Given the description of an element on the screen output the (x, y) to click on. 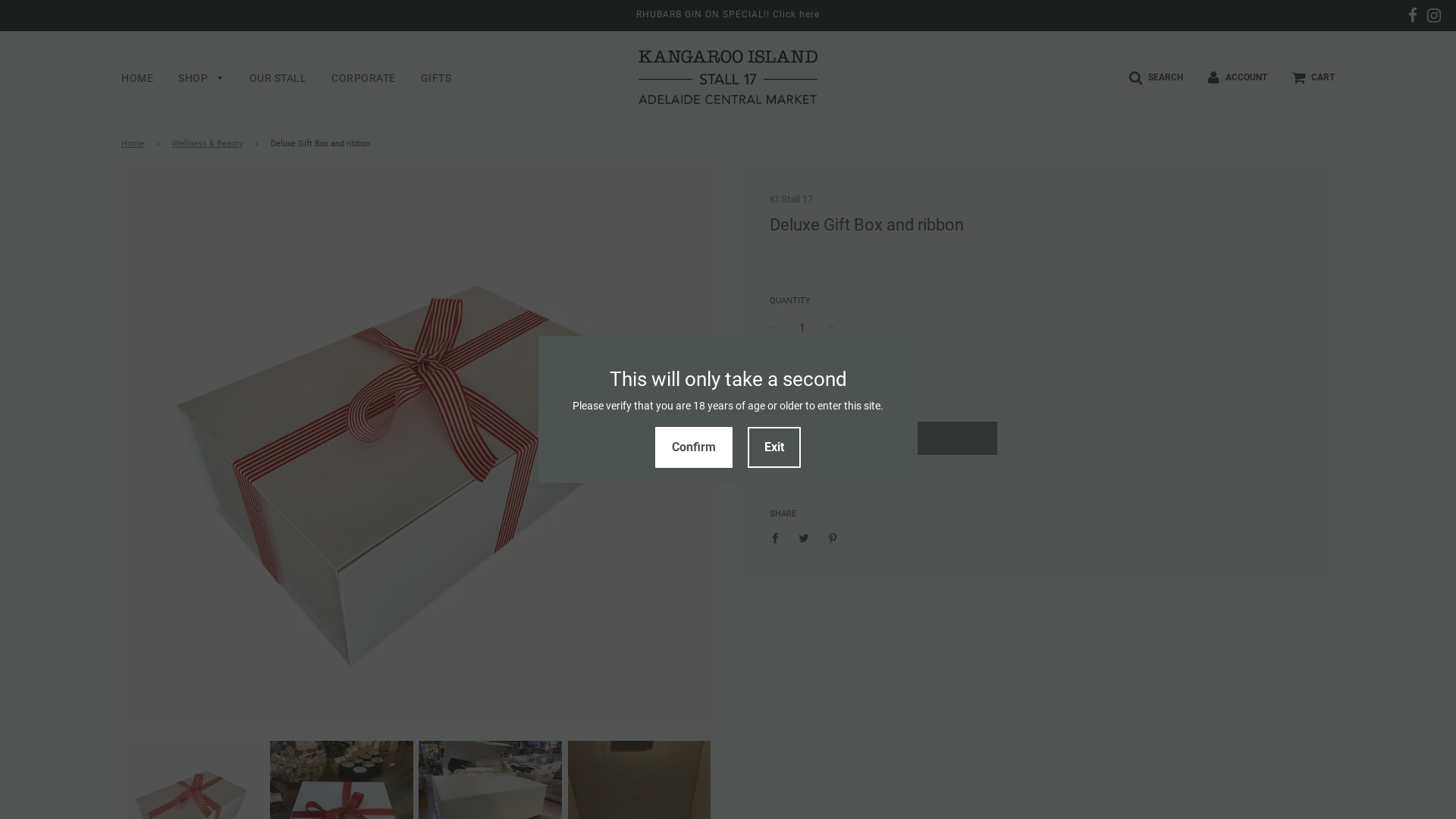
Confirm Element type: text (693, 446)
OUR STALL Element type: text (278, 77)
+ Element type: text (831, 327)
SHOP Element type: text (200, 78)
CART Element type: text (1313, 77)
CORPORATE Element type: text (363, 77)
Exit Element type: text (773, 446)
ACCOUNT Element type: text (1237, 77)
GIFTS Element type: text (430, 77)
HOME Element type: text (136, 77)
Wellness & Beauty Element type: text (209, 144)
SEARCH Element type: text (1156, 77)
Home Element type: text (135, 144)
SOLD OUT Element type: text (883, 438)
KI Stall 17 Element type: text (790, 198)
